Given the description of an element on the screen output the (x, y) to click on. 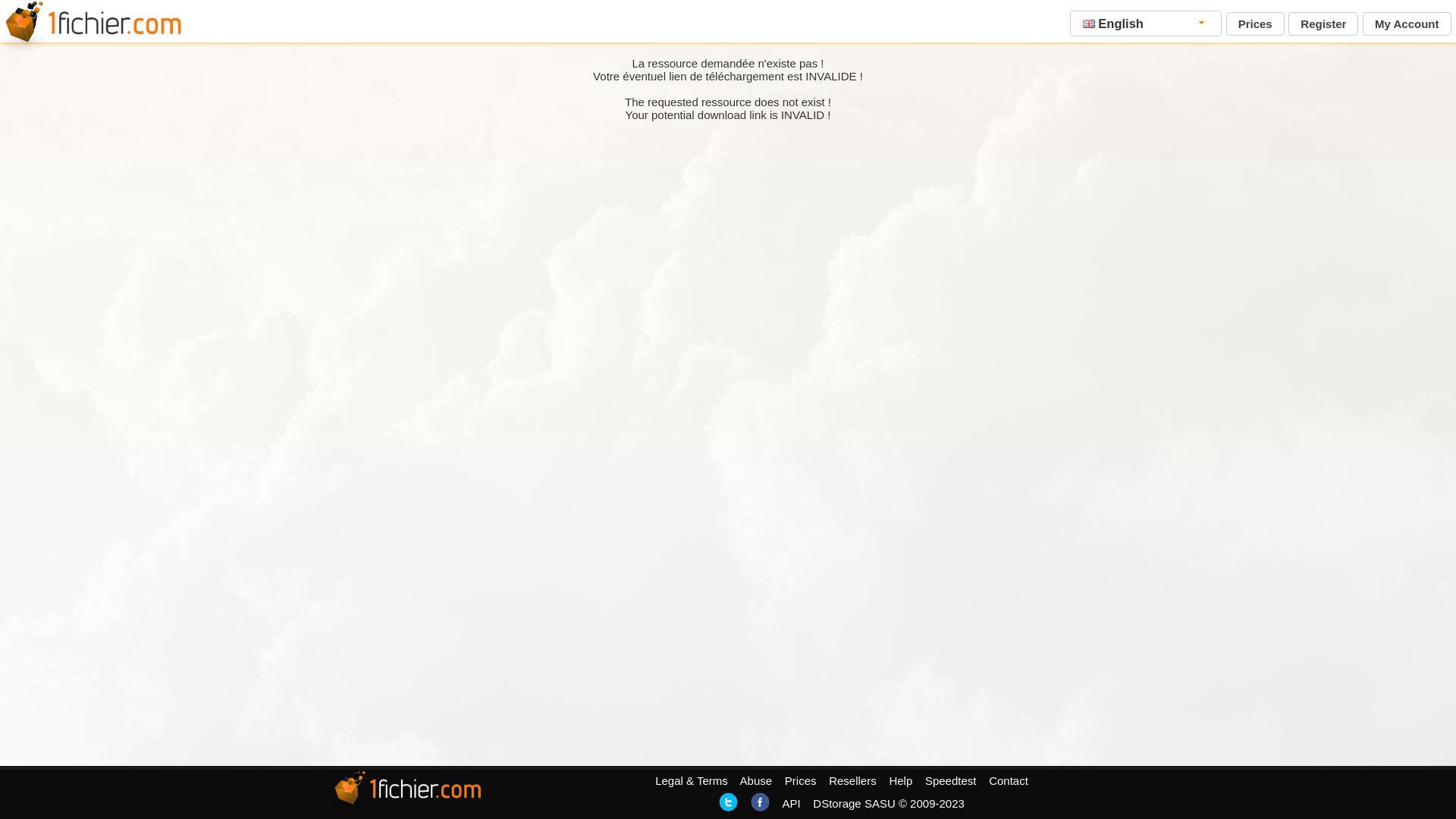
Legal & Terms Element type: text (691, 780)
Abuse Element type: text (756, 780)
Prices Element type: text (1255, 23)
Contact Element type: text (1008, 780)
Help Element type: text (900, 780)
API Element type: text (790, 803)
Speedtest Element type: text (950, 780)
My Account Element type: text (1406, 23)
Prices Element type: text (800, 780)
Resellers Element type: text (852, 780)
Register Element type: text (1323, 23)
